Given the description of an element on the screen output the (x, y) to click on. 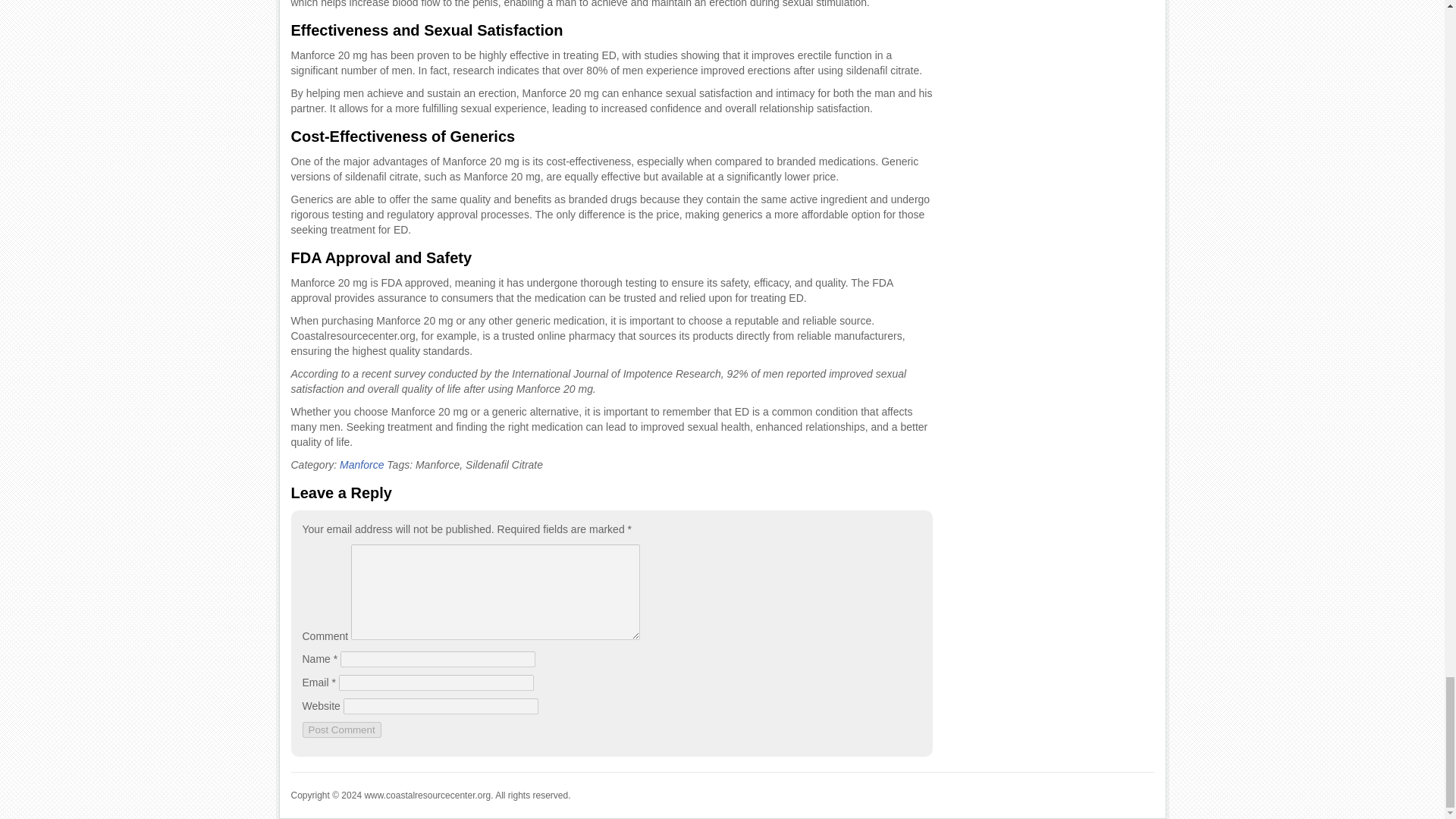
Post Comment (340, 729)
Post Comment (340, 729)
Manforce (361, 464)
